Given the description of an element on the screen output the (x, y) to click on. 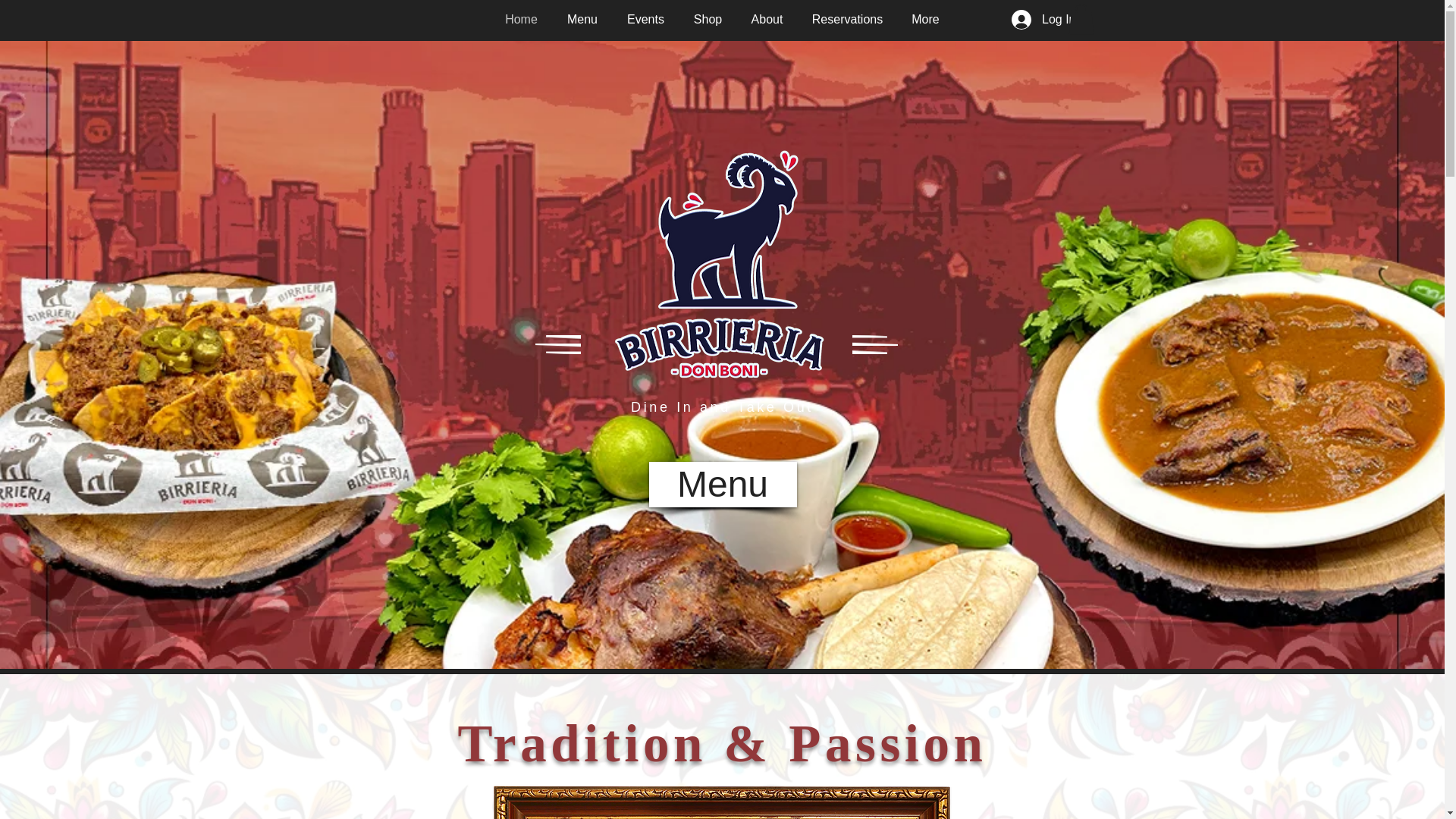
Home (520, 19)
About (766, 19)
Events (645, 19)
Reservations (847, 19)
Menu (722, 483)
Log In (1043, 19)
Menu (581, 19)
Shop (707, 19)
